Given the description of an element on the screen output the (x, y) to click on. 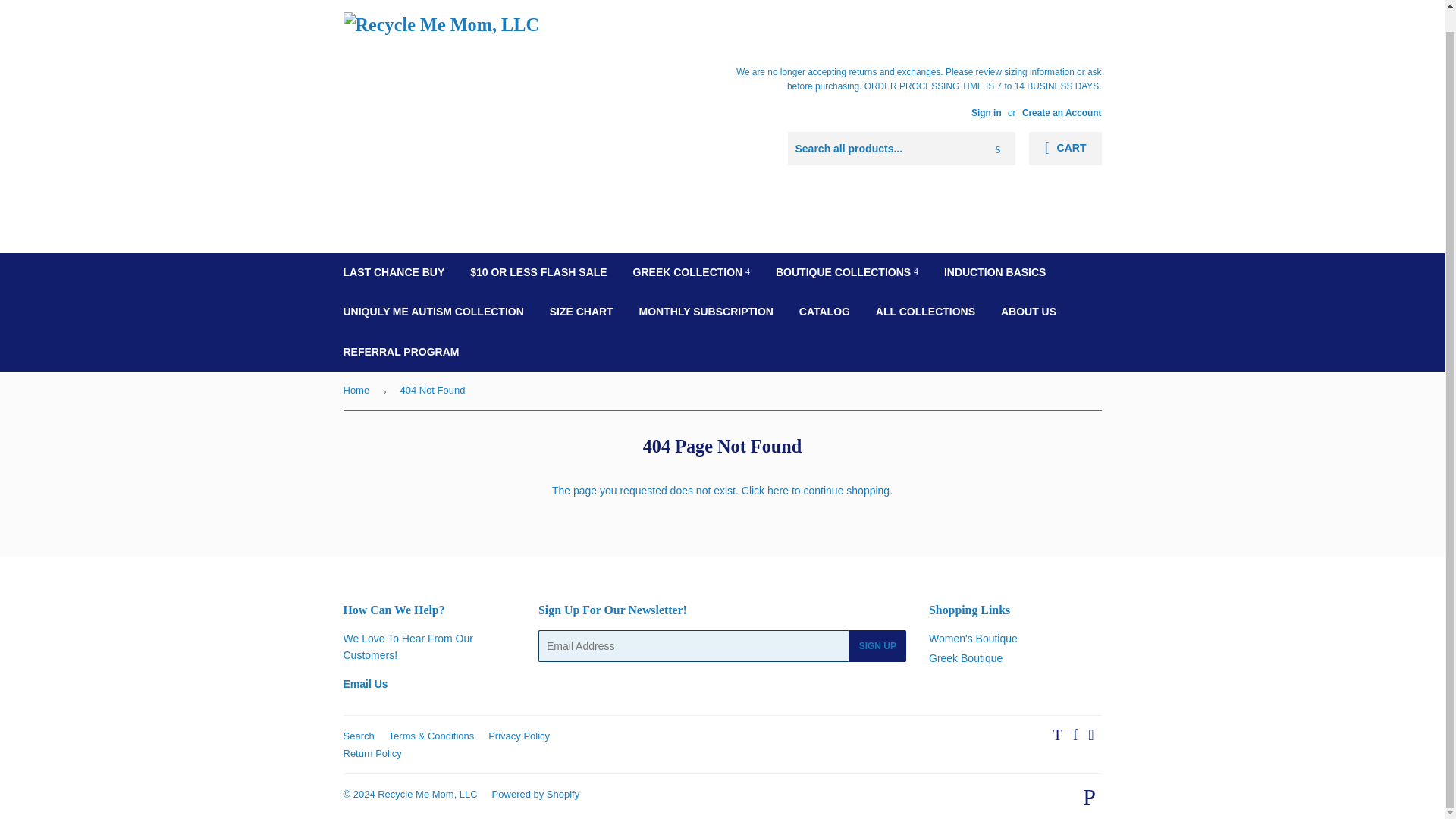
Create an Account (1062, 112)
CART (1064, 148)
GREEK COLLECTION (691, 271)
Sign in (986, 112)
Search (997, 149)
LAST CHANCE BUY (394, 271)
